Given the description of an element on the screen output the (x, y) to click on. 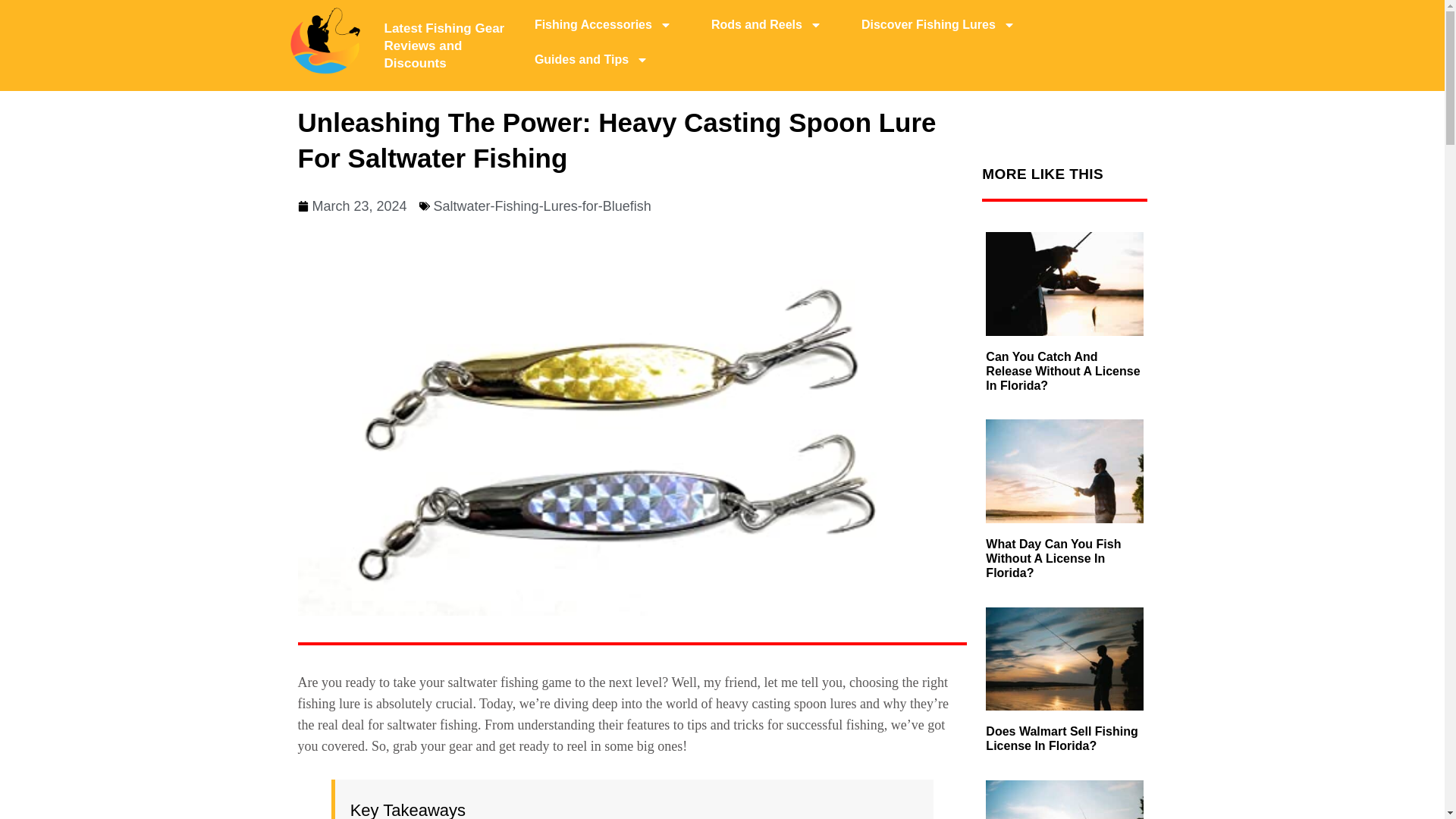
Rods and Reels (766, 24)
Fishing Accessories (603, 24)
Latest Fishing Gear Reviews and Discounts (443, 45)
Discover Fishing Lures (938, 24)
